Given the description of an element on the screen output the (x, y) to click on. 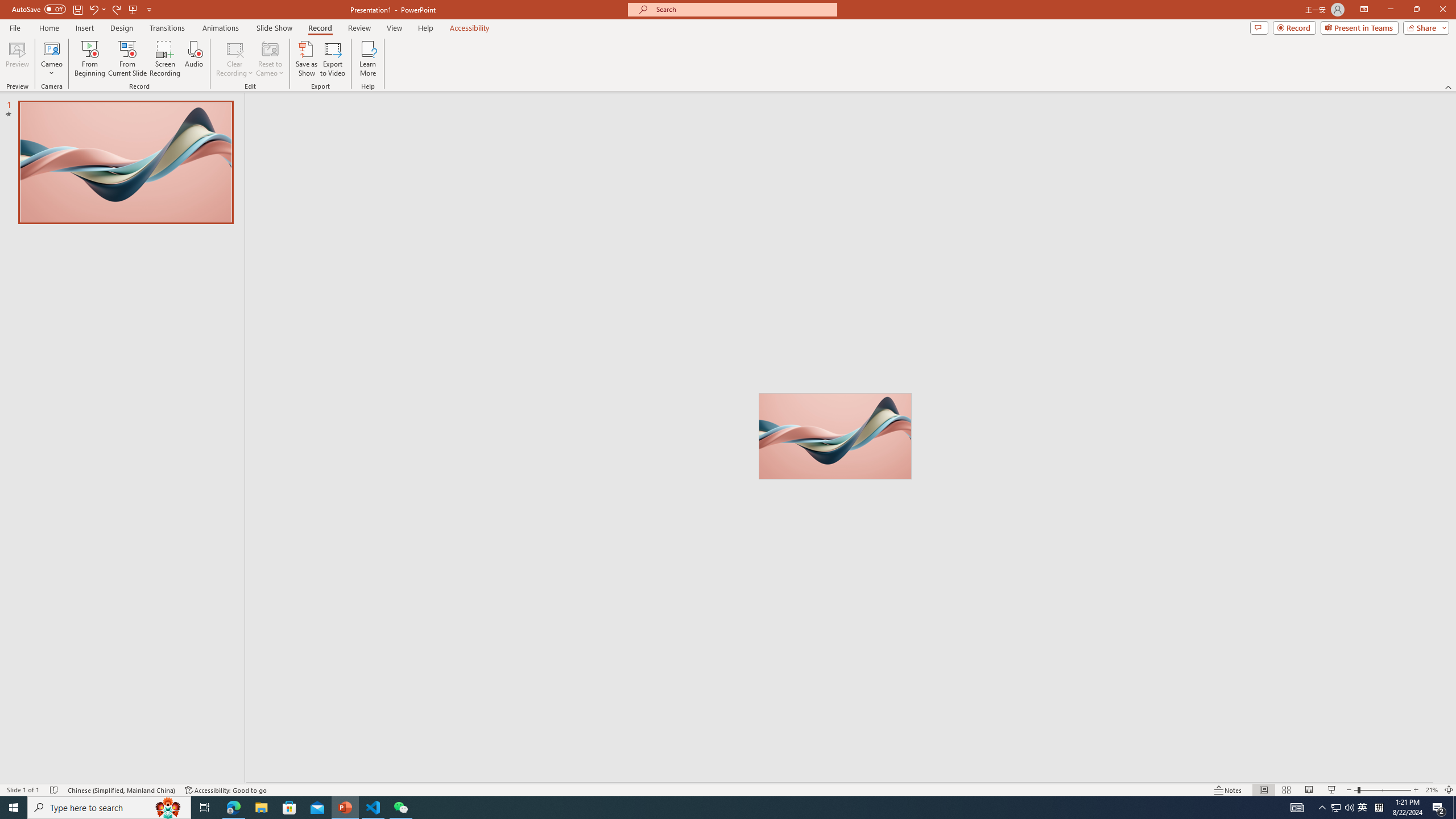
Save as Show (306, 58)
Reset to Cameo (269, 58)
Accessibility Checker Accessibility: Good to go (226, 790)
Preview (17, 58)
From Current Slide... (127, 58)
Zoom 21% (1431, 790)
